Given the description of an element on the screen output the (x, y) to click on. 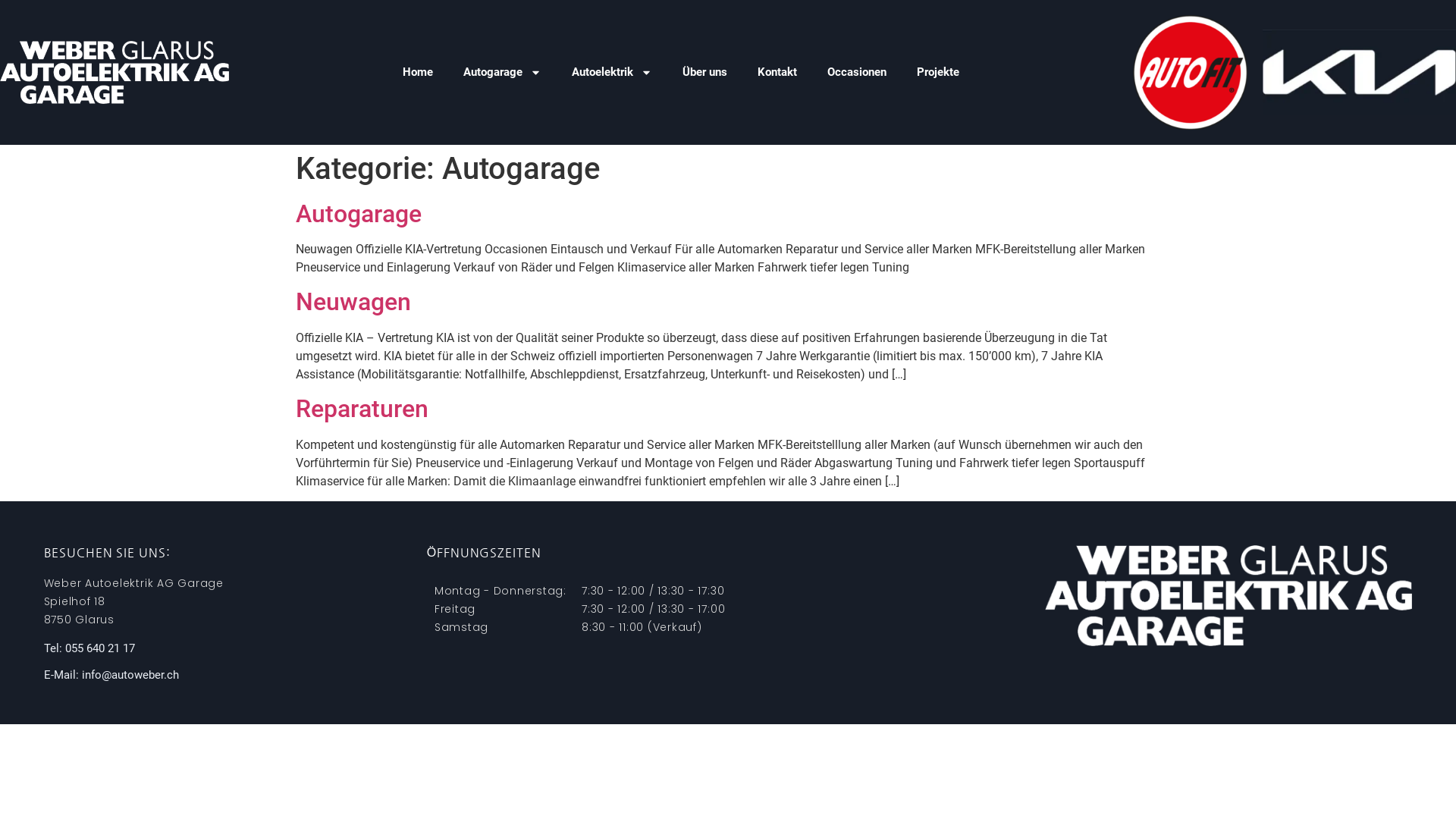
Kontakt Element type: text (777, 71)
E-Mail: info@autoweber.ch Element type: text (110, 674)
Tel: 055 640 21 17 Element type: text (88, 648)
Neuwagen Element type: text (353, 301)
Autogarage Element type: text (502, 71)
Autoelektrik Element type: text (611, 71)
Projekte Element type: text (937, 71)
Reparaturen Element type: text (361, 408)
Home Element type: text (417, 71)
Autogarage Element type: text (358, 213)
Occasionen Element type: text (856, 71)
